Given the description of an element on the screen output the (x, y) to click on. 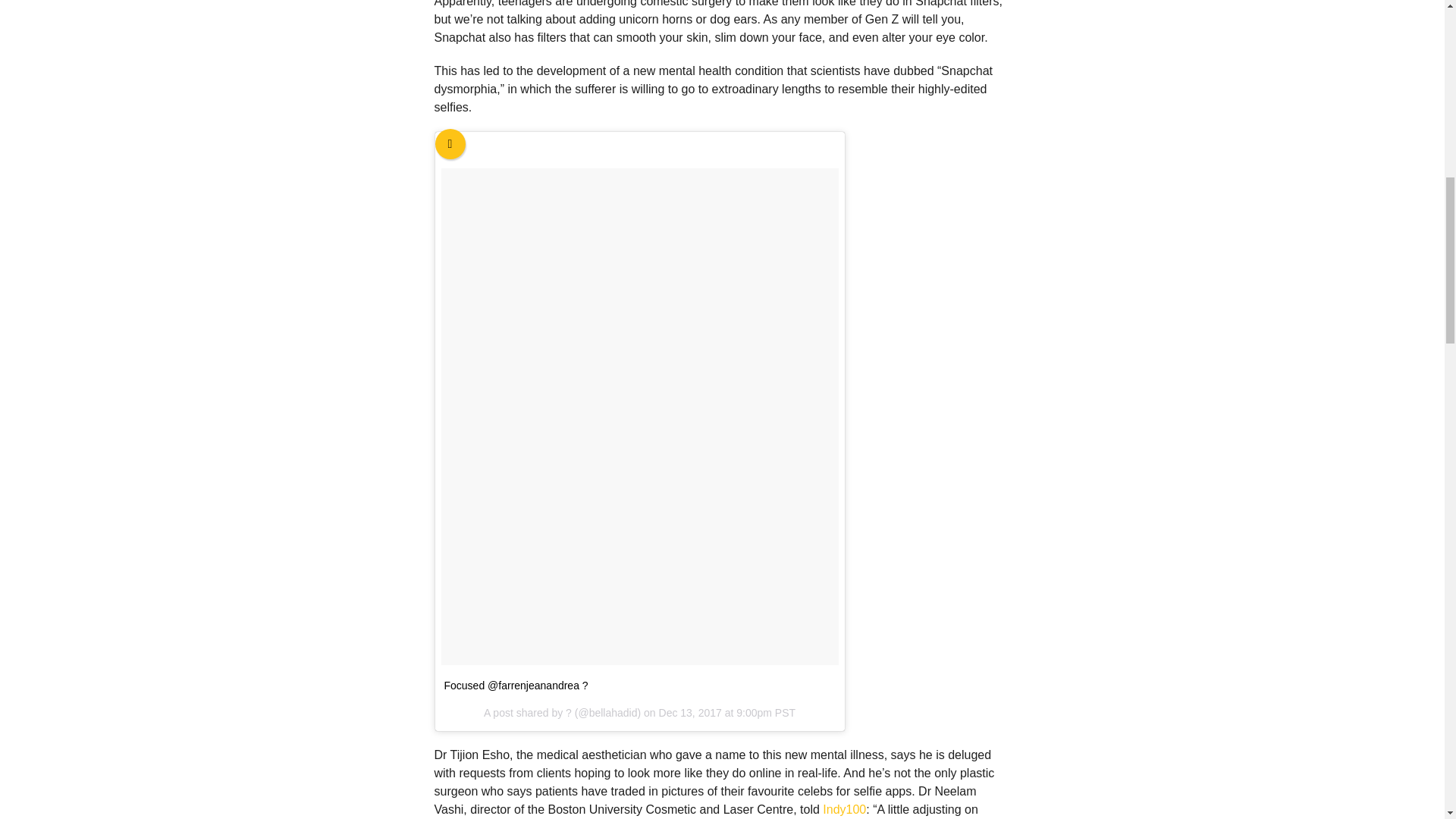
Indy100 (844, 809)
